Given the description of an element on the screen output the (x, y) to click on. 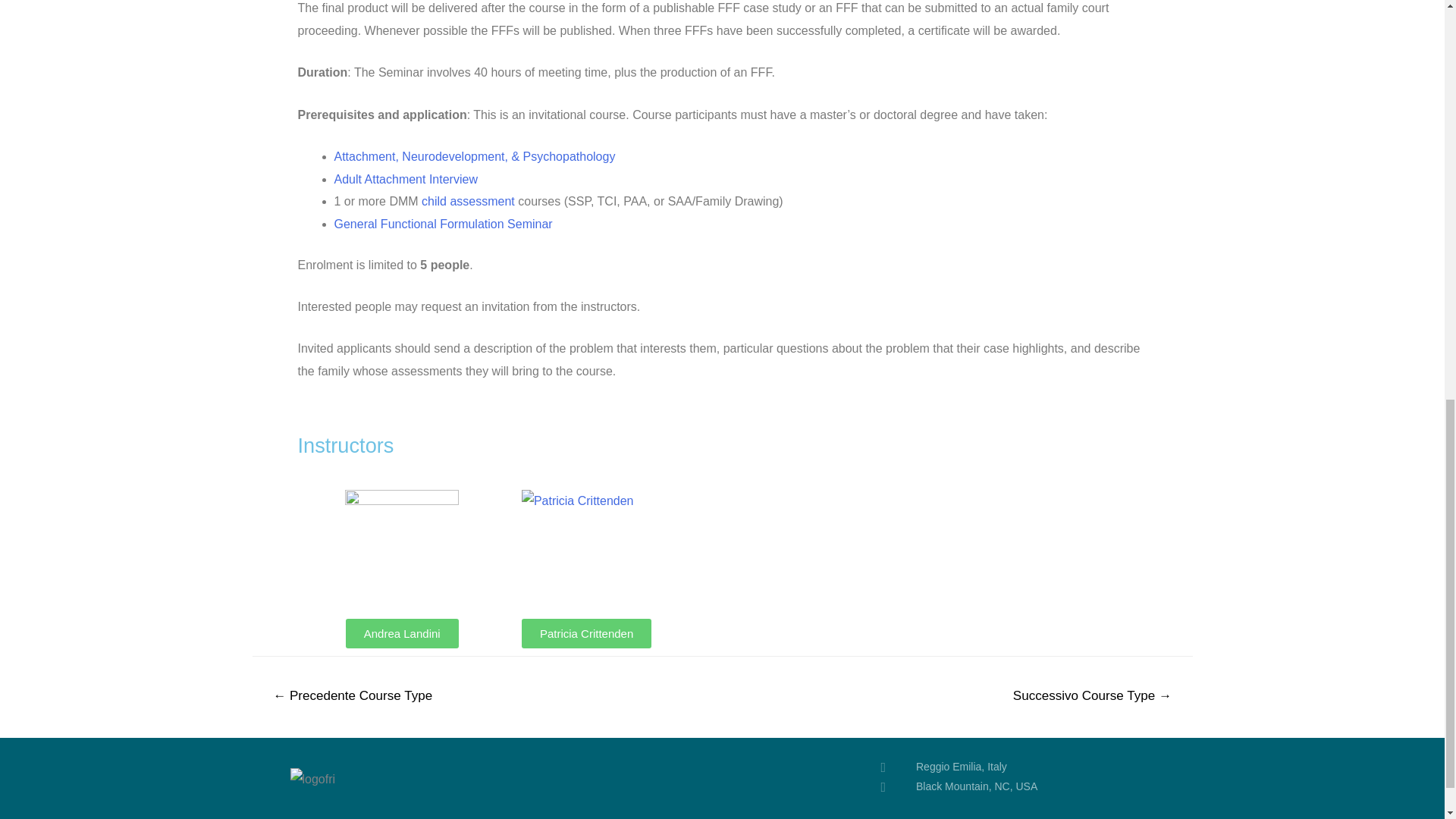
Andrea Landini (402, 633)
child assessment (468, 201)
Adult Attachment Interview (405, 178)
logofri (311, 779)
General Functional Formulation Seminar (442, 223)
